Given the description of an element on the screen output the (x, y) to click on. 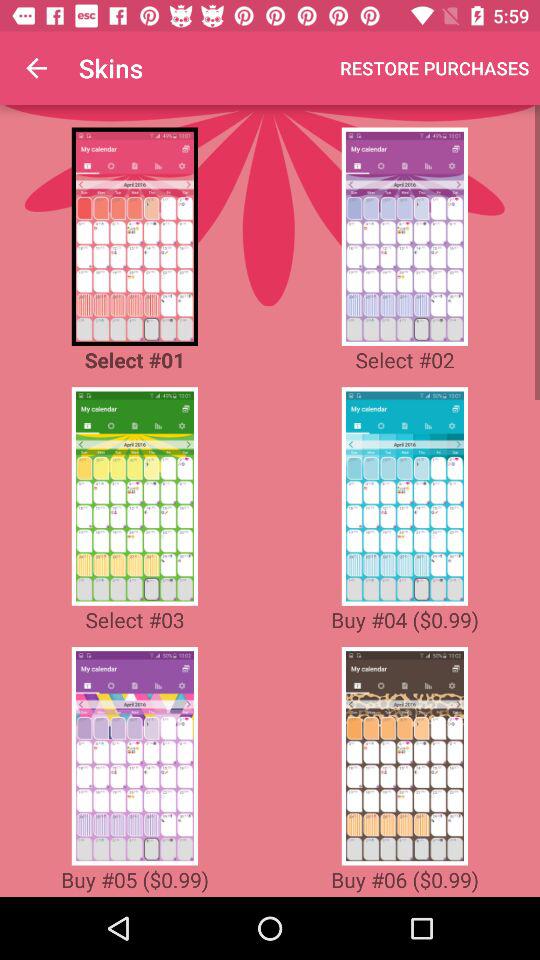
buy calendar skin number 4 option (404, 496)
